Given the description of an element on the screen output the (x, y) to click on. 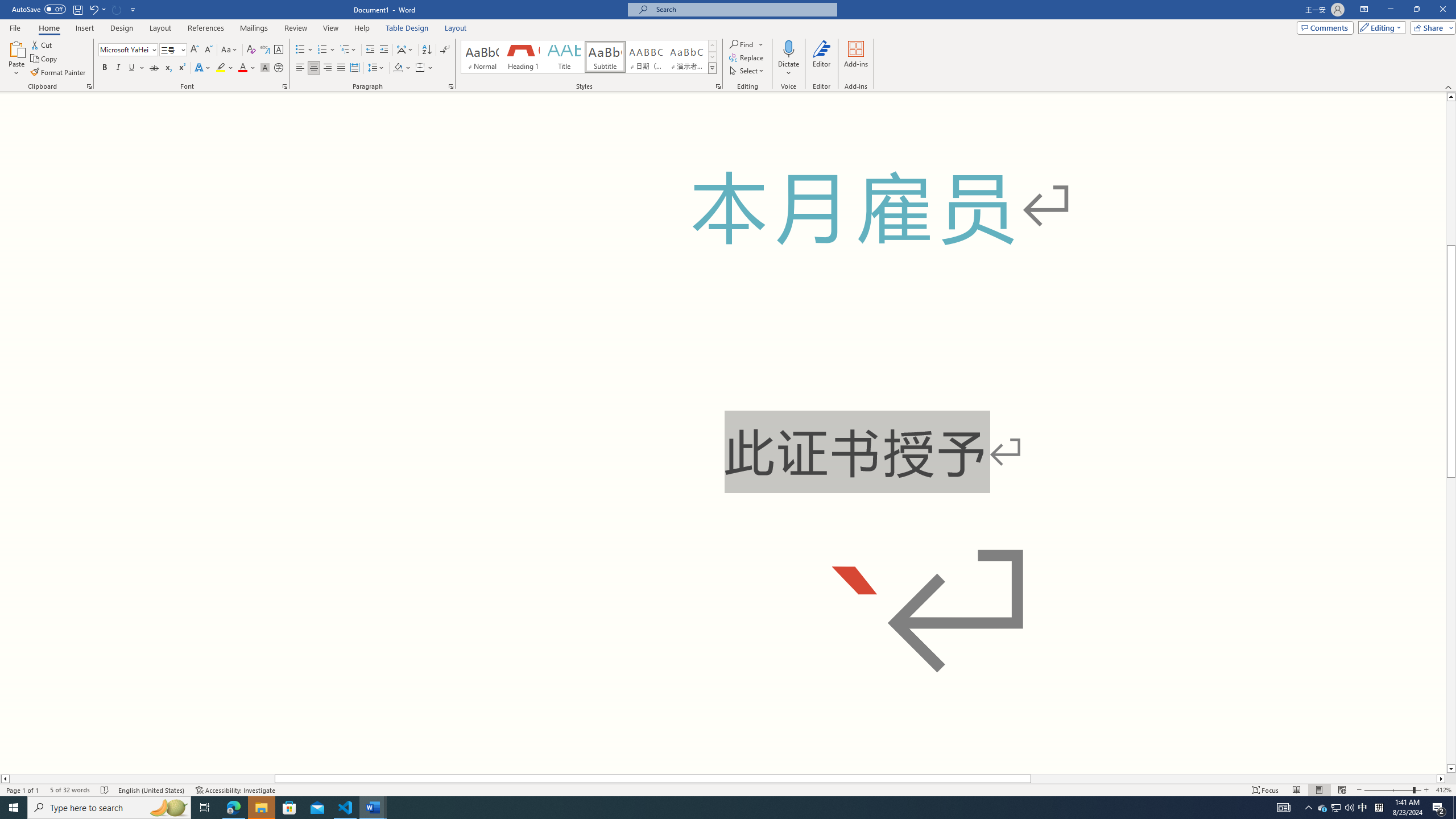
Shading (402, 67)
Line down (1450, 768)
Shading RGB(0, 0, 0) (397, 67)
AutomationID: QuickStylesGallery (588, 56)
Grow Font (193, 49)
Styles... (717, 85)
Page down (1450, 620)
Language English (United States) (152, 790)
Borders (419, 67)
Text Highlight Color (224, 67)
Share (1430, 27)
